Given the description of an element on the screen output the (x, y) to click on. 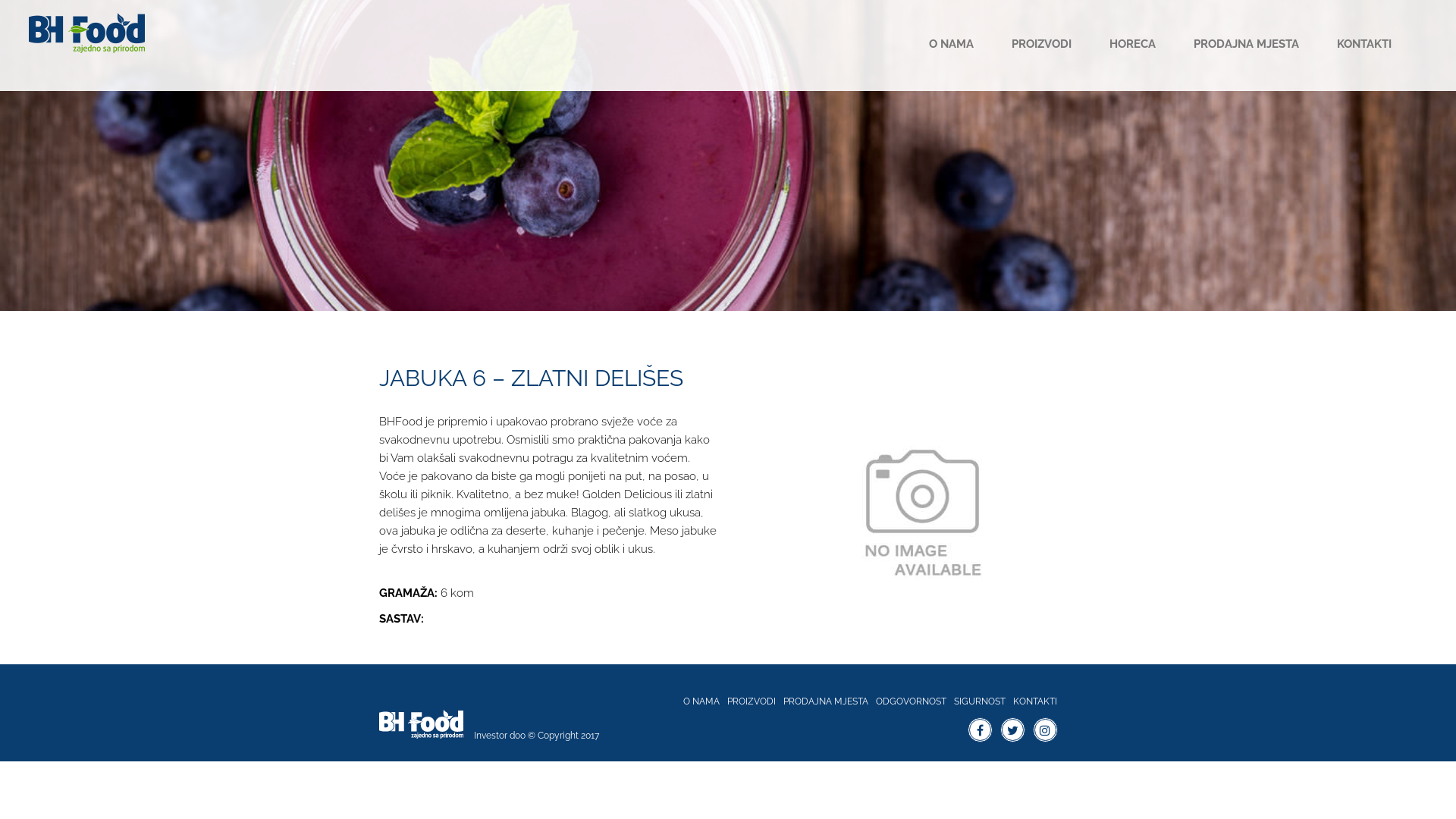
BH FOOD Element type: hover (87, 31)
O NAMA Element type: text (701, 701)
KONTAKTI Element type: text (1034, 701)
PRODAJNA MJESTA Element type: text (825, 701)
KONTAKTI Element type: text (1363, 45)
PROIZVODI Element type: text (751, 701)
ODGOVORNOST Element type: text (911, 701)
SIGURNOST Element type: text (979, 701)
HORECA Element type: text (1132, 45)
PRODAJNA MJESTA Element type: text (1245, 45)
PROIZVODI Element type: text (1041, 45)
O NAMA Element type: text (951, 45)
